Given the description of an element on the screen output the (x, y) to click on. 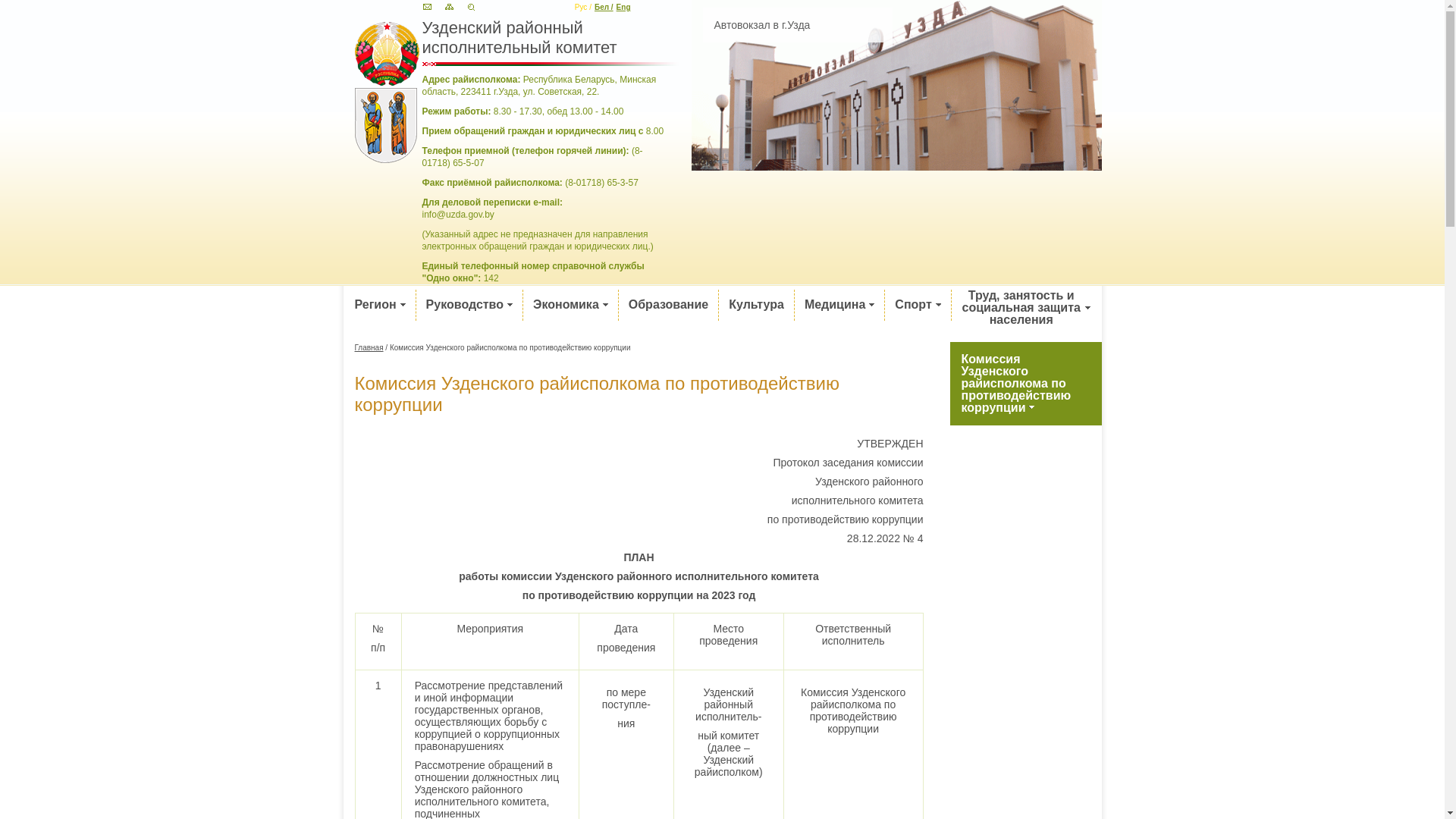
Eng Element type: text (623, 7)
info@uzda.gov.by Element type: text (457, 214)
